Given the description of an element on the screen output the (x, y) to click on. 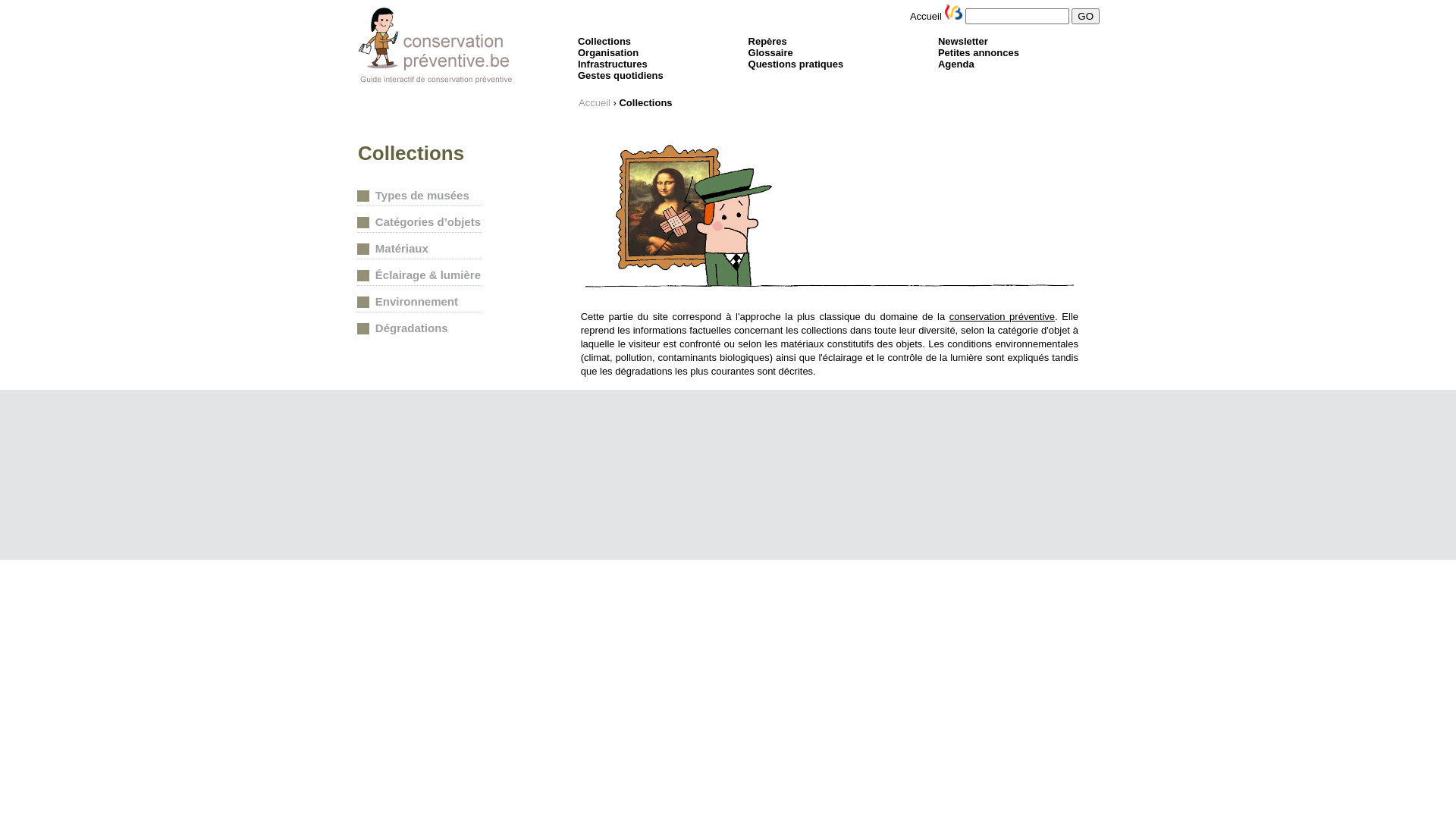
Gestes quotidiens Element type: text (620, 75)
Collections Element type: text (644, 102)
GO Element type: text (1085, 16)
Accueil Element type: text (925, 15)
Collections Element type: text (603, 41)
Petites annonces Element type: text (978, 52)
Organisation Element type: text (607, 52)
Newsletter Element type: text (963, 41)
Infrastructures Element type: text (612, 63)
Questions pratiques Element type: text (796, 63)
Agenda Element type: text (956, 63)
 Environnement Element type: text (415, 300)
Accueil Element type: text (595, 102)
Glossaire Element type: text (770, 52)
